Given the description of an element on the screen output the (x, y) to click on. 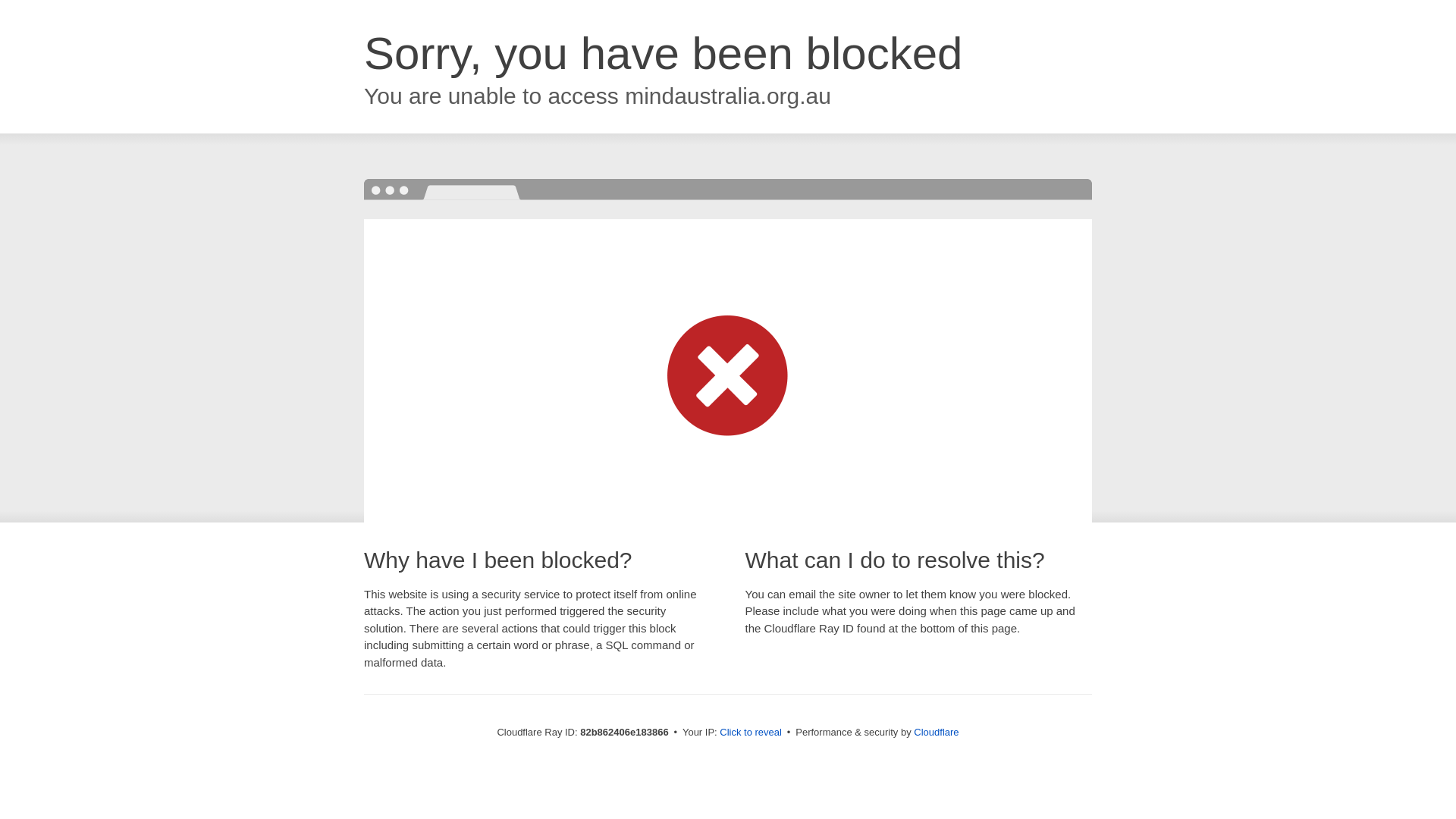
Cloudflare Element type: text (935, 731)
Click to reveal Element type: text (750, 732)
